Given the description of an element on the screen output the (x, y) to click on. 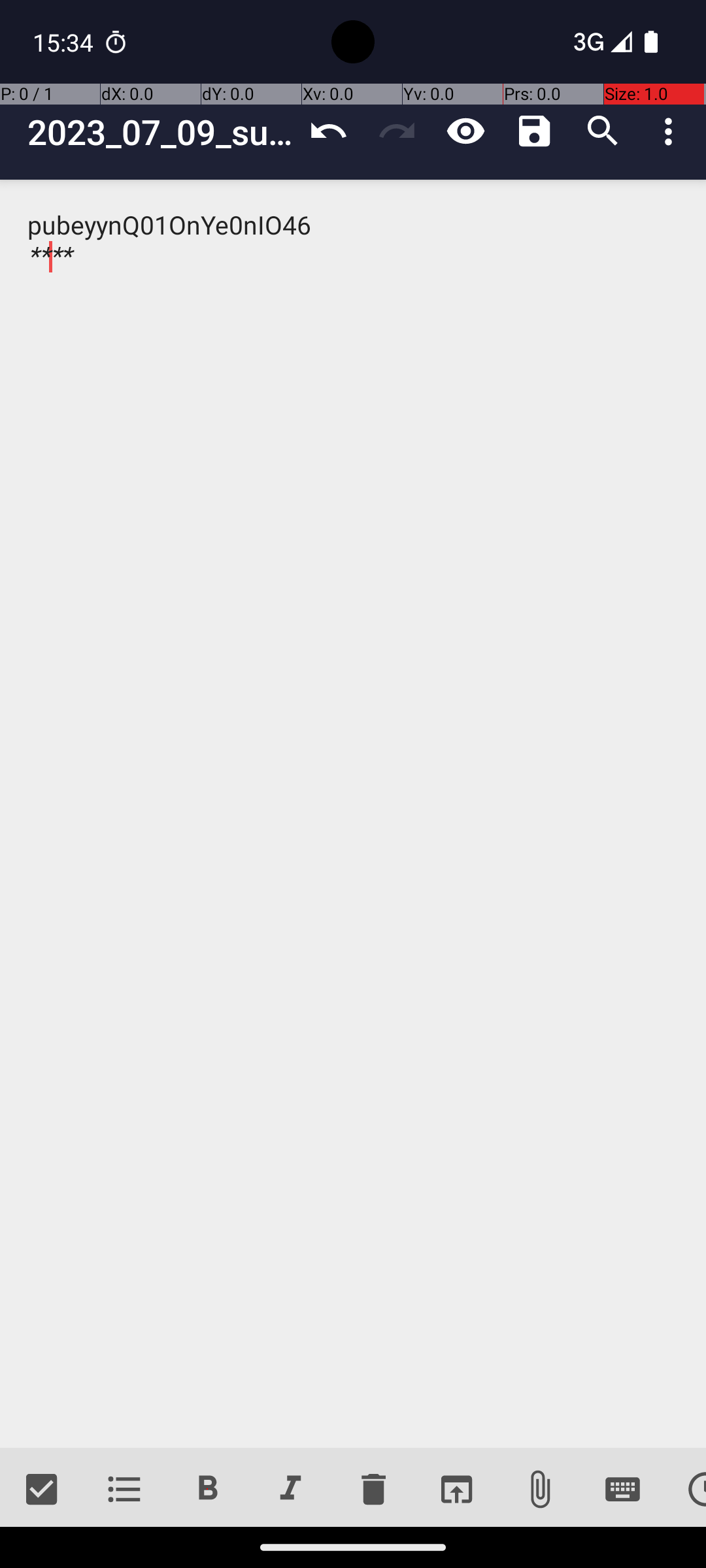
2023_07_09_summer_vacation_plans Element type: android.widget.TextView (160, 131)
pubeyynQ01OnYe0nIO46
**** Element type: android.widget.EditText (353, 813)
